Given the description of an element on the screen output the (x, y) to click on. 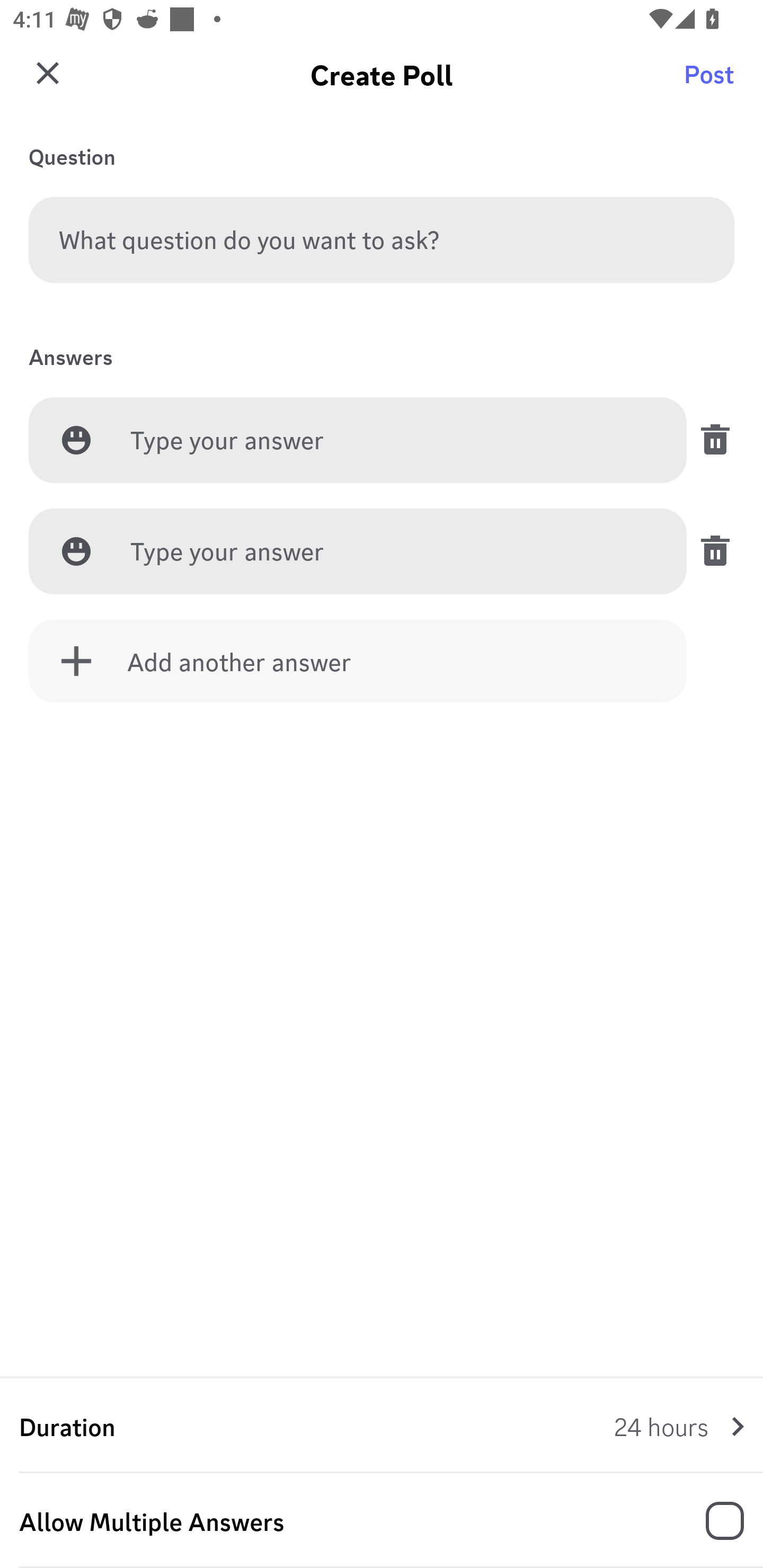
general (channel) general general (channel) (387, 82)
Back (44, 82)
Search (711, 82)
What question do you want to ask? Question (381, 239)
Add media, answer 1 (75, 439)
Remove answer 1 (710, 439)
Type your answer Answer 1 (393, 440)
Add media, answer 2 (75, 550)
Remove answer 2 (710, 550)
Type your answer Answer 2 (393, 551)
Add another answer (357, 660)
Duration 24 hours Duration 24 hours (381, 1425)
Allow Multiple Answers,  Allow Multiple Answers (381, 1520)
Record Voice Message (711, 1522)
